Given the description of an element on the screen output the (x, y) to click on. 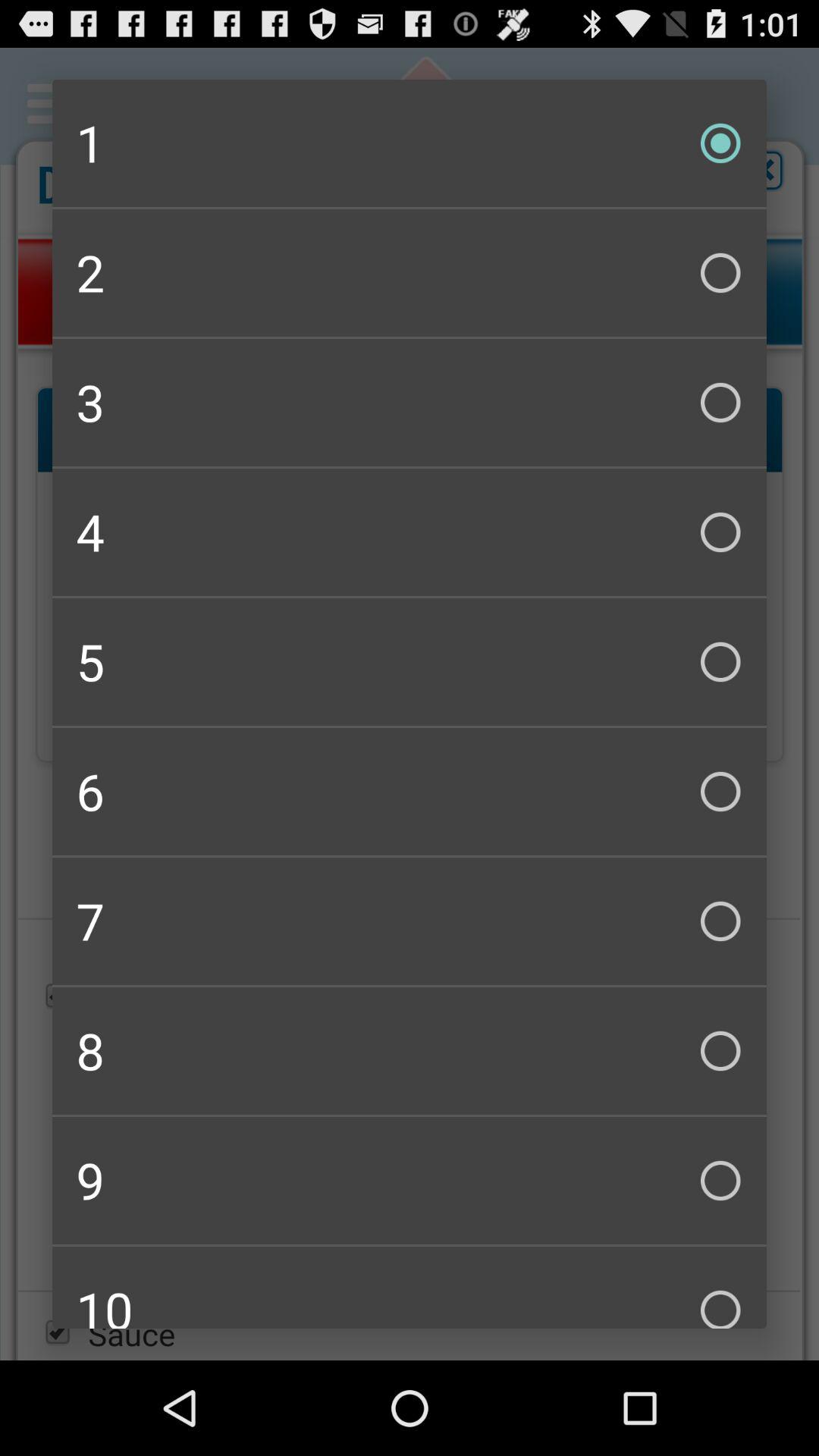
jump until the 8 icon (409, 1050)
